Given the description of an element on the screen output the (x, y) to click on. 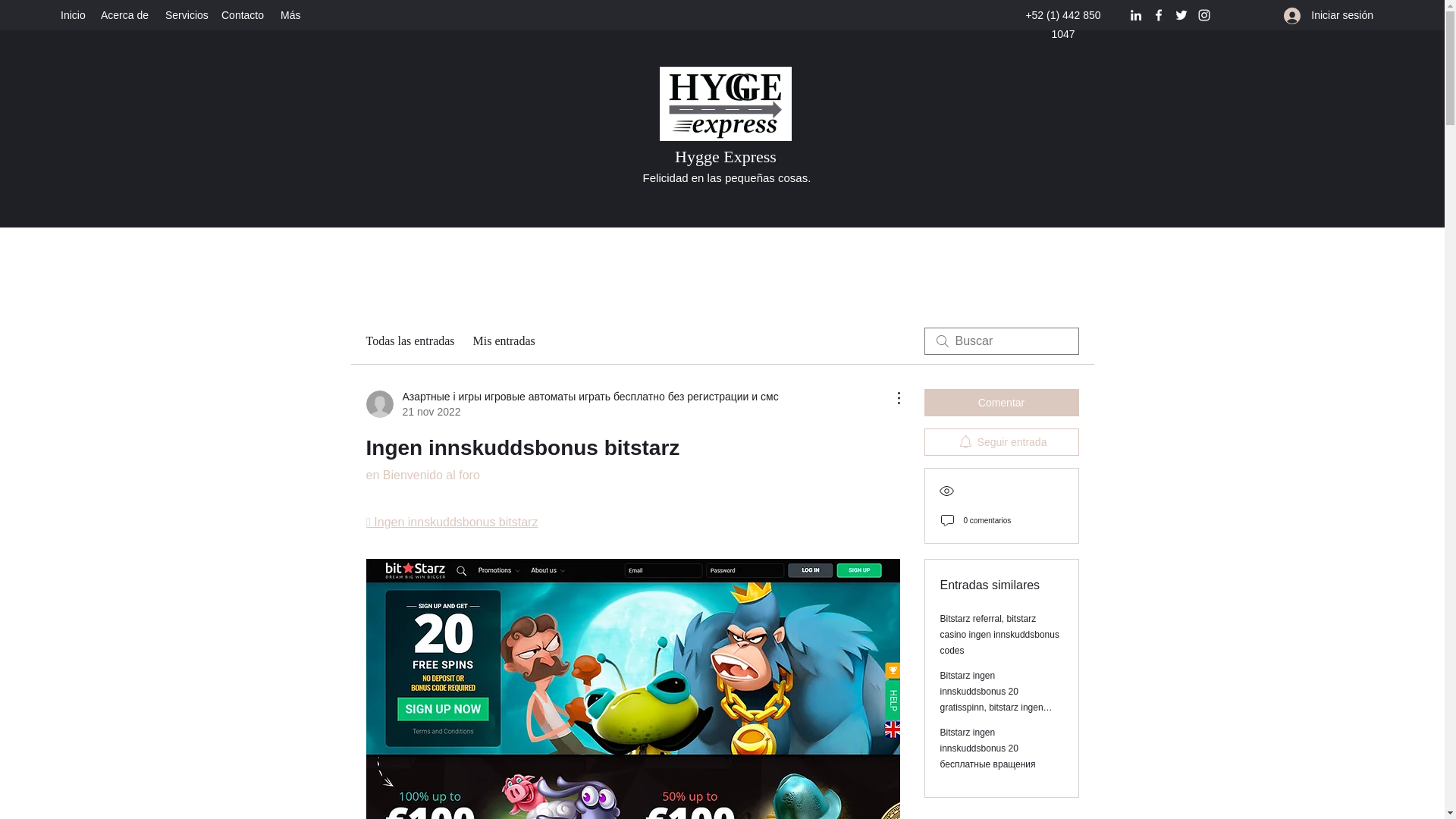
Contacto (243, 15)
Hygge Express (725, 156)
Mis entradas (504, 341)
en Bienvenido al foro (422, 474)
Inicio (72, 15)
Todas las entradas (409, 341)
Seguir entrada (1000, 441)
Comentar (1000, 402)
